Given the description of an element on the screen output the (x, y) to click on. 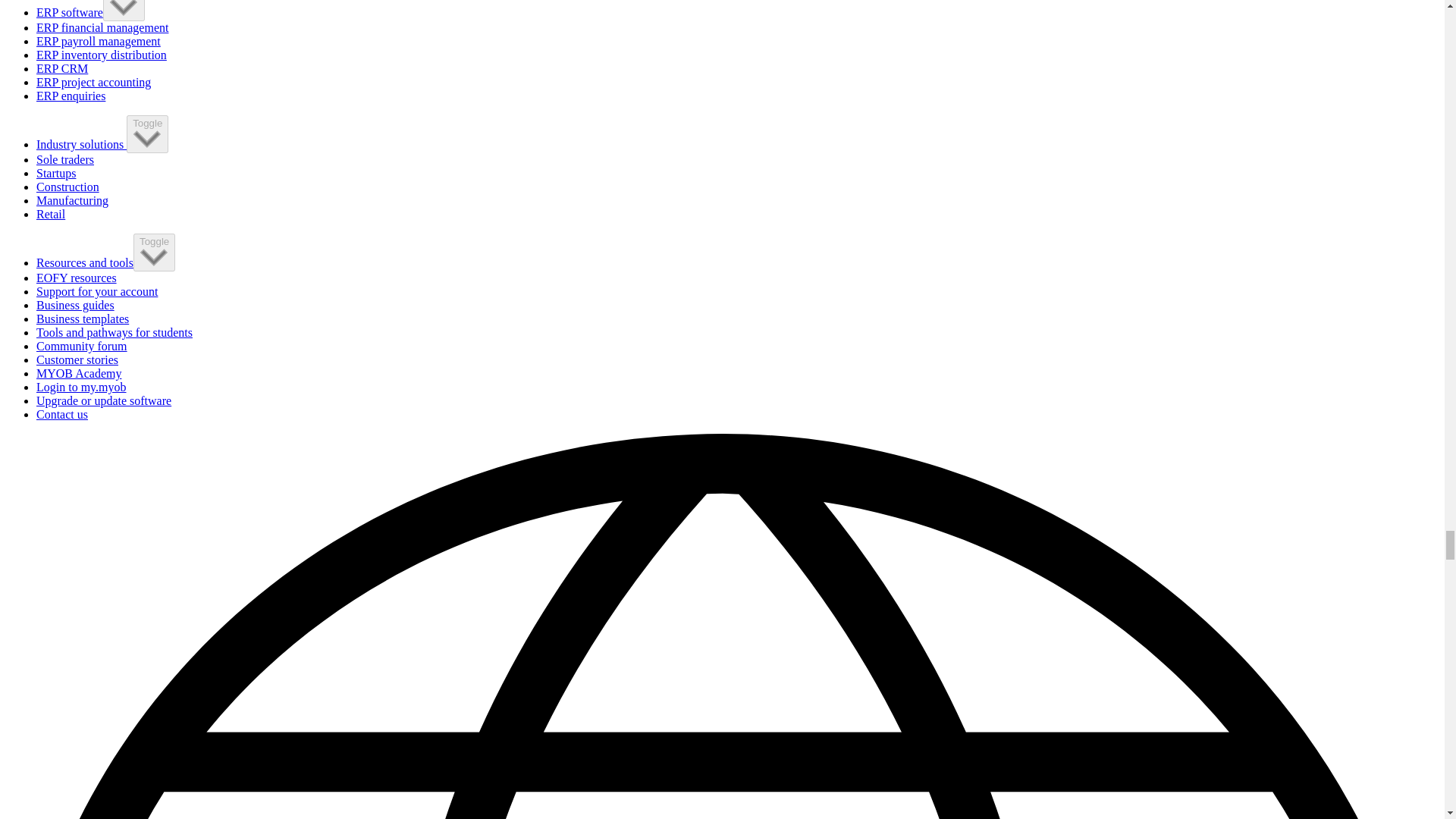
Chevron down (123, 8)
Chevron down (147, 138)
Chevron down (153, 256)
